Given the description of an element on the screen output the (x, y) to click on. 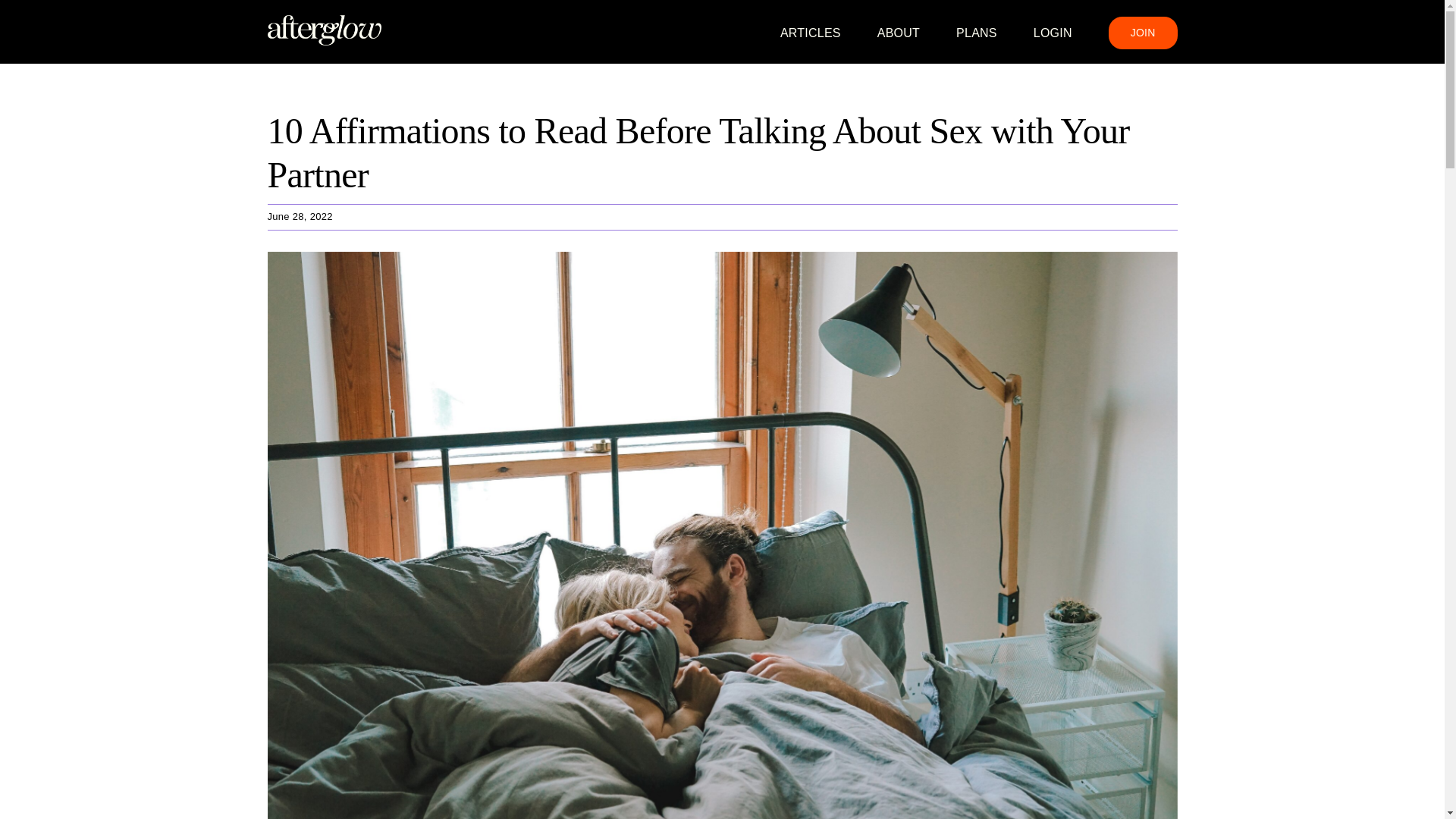
ARTICLES (810, 31)
JOIN (1142, 31)
